Given the description of an element on the screen output the (x, y) to click on. 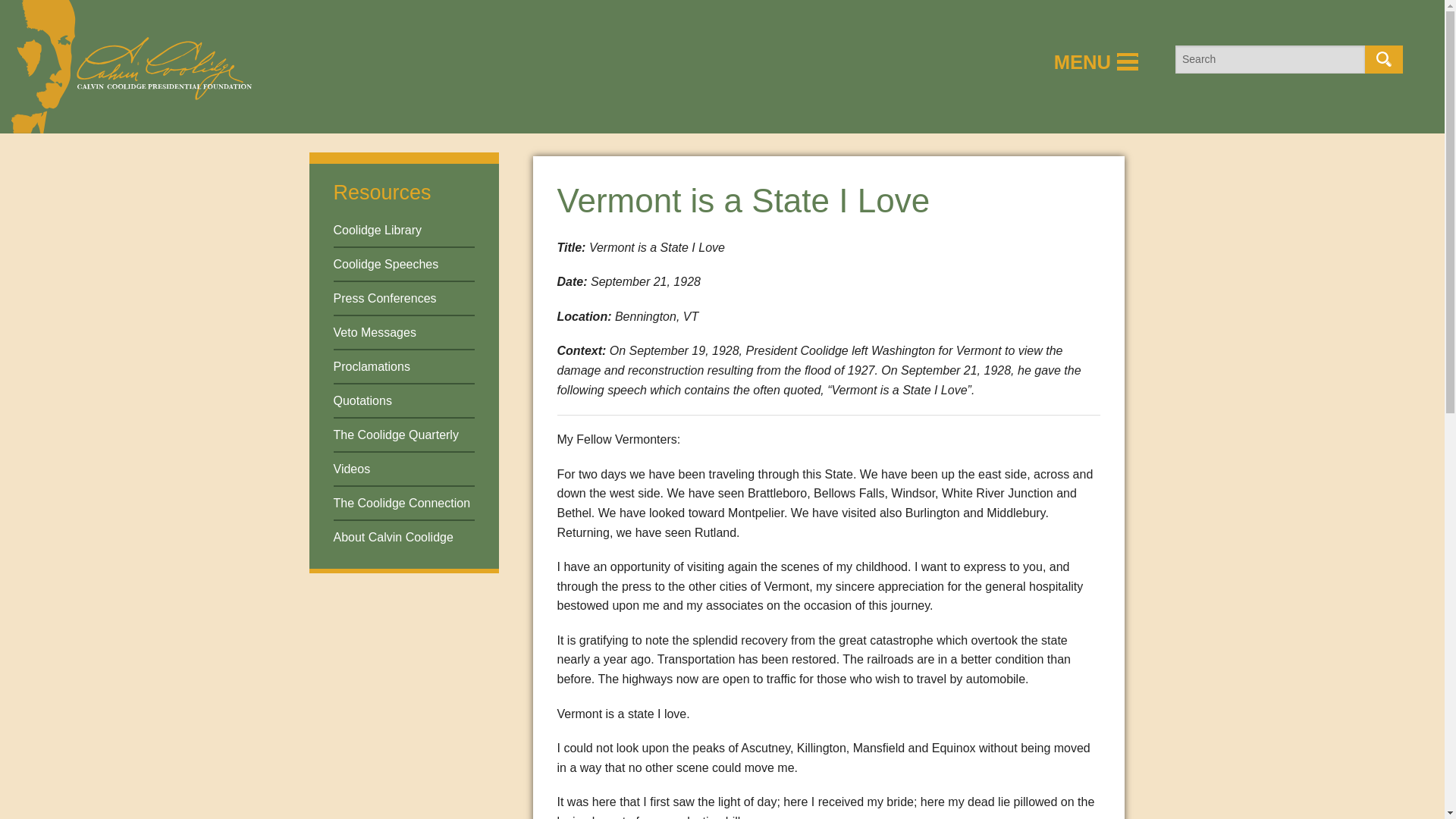
The Coolidge Connection (401, 502)
Coolidge Speeches (386, 264)
Videos (352, 468)
Press Conferences (384, 297)
Search (1384, 59)
Search (1384, 59)
Proclamations (371, 366)
Coolidge Library (377, 229)
The Coolidge Quarterly (395, 434)
Veto Messages (374, 332)
About Calvin Coolidge (392, 536)
Quotations (362, 400)
